Given the description of an element on the screen output the (x, y) to click on. 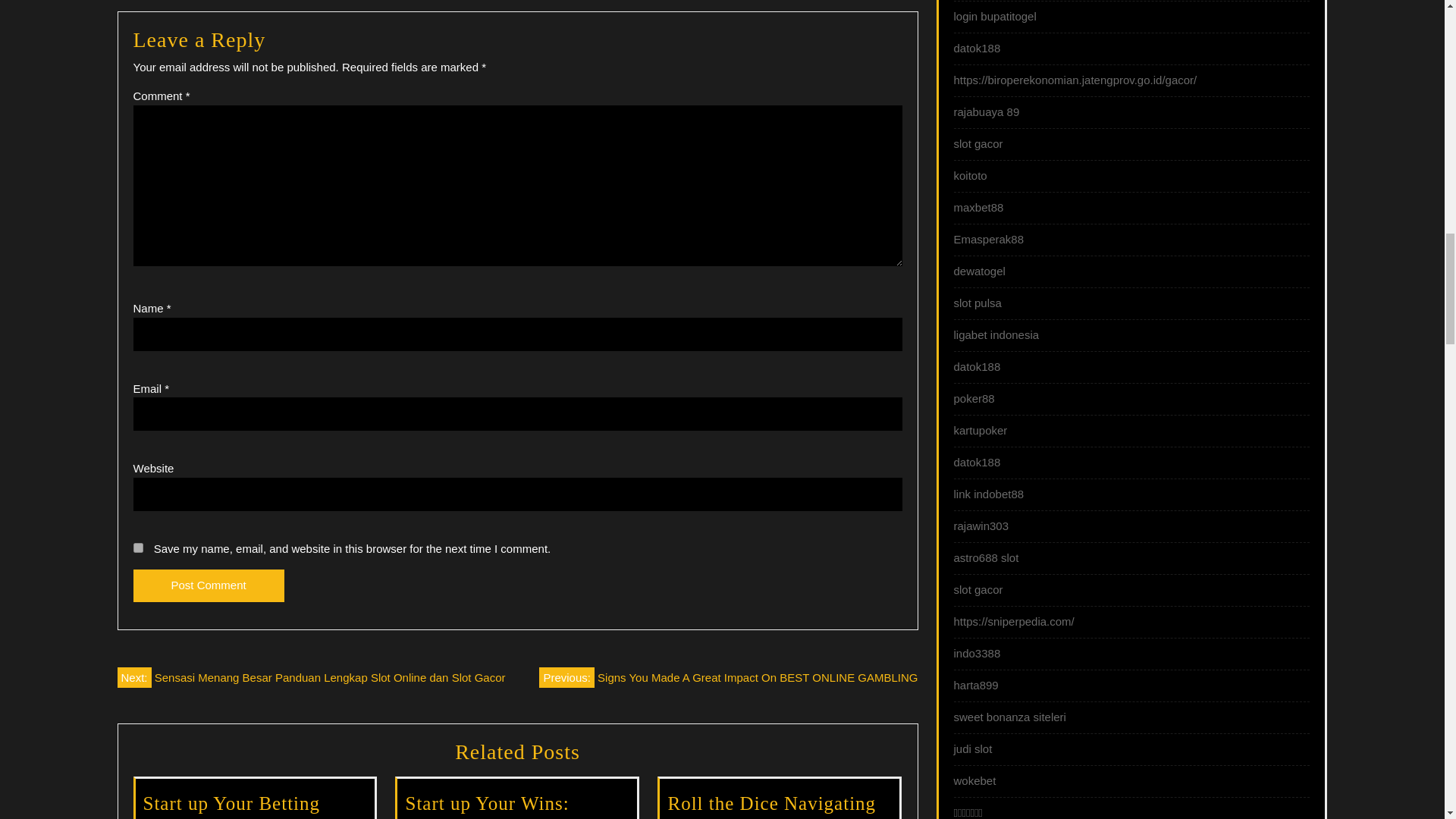
Post Comment (208, 585)
yes (137, 547)
Post Comment (208, 585)
